Given the description of an element on the screen output the (x, y) to click on. 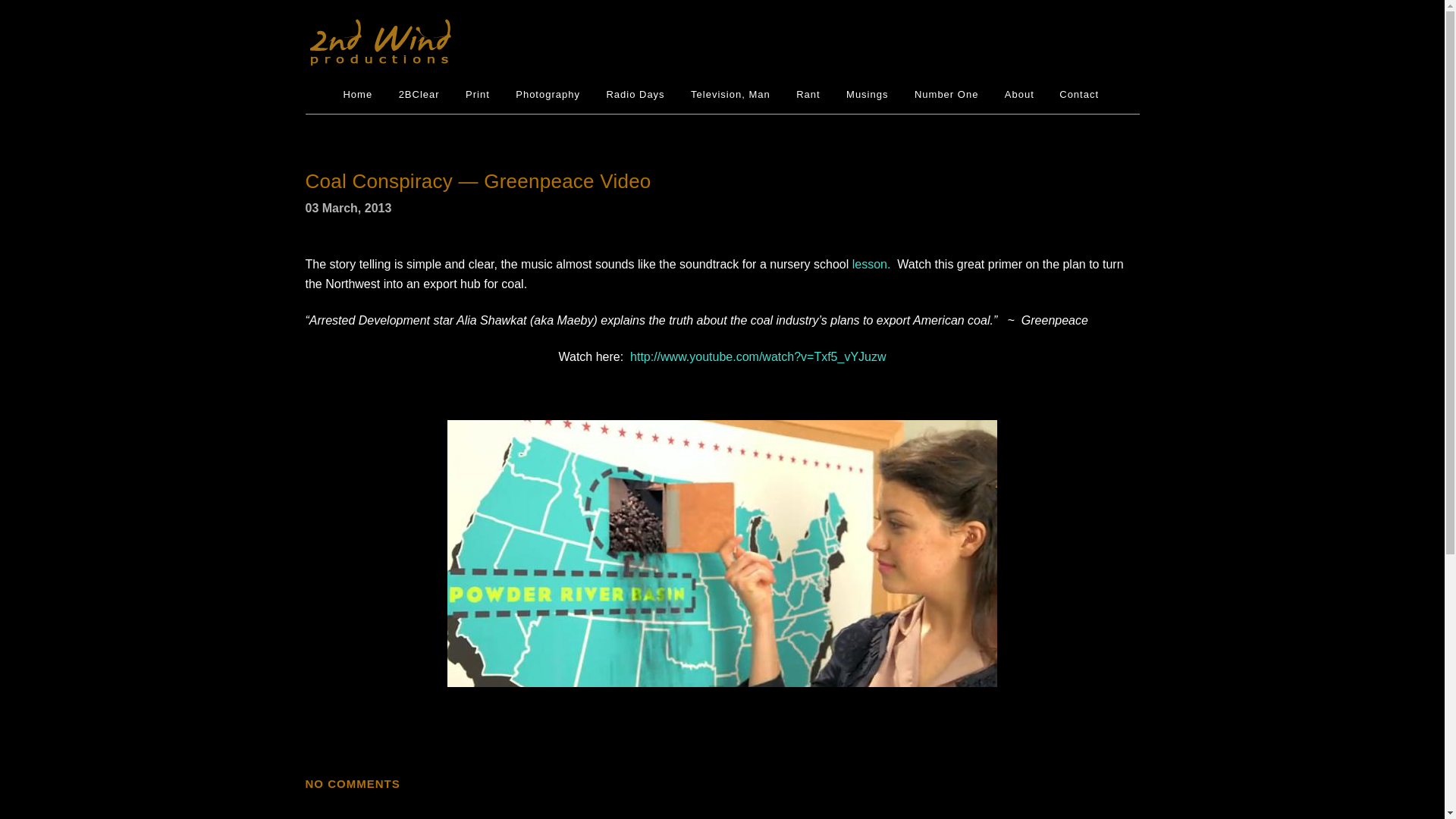
Print Element type: text (477, 94)
lesson.  Watch Element type: text (893, 263)
Television, Man Element type: text (730, 94)
Number One Element type: text (946, 94)
About Element type: text (1019, 94)
Photography Element type: text (547, 94)
2BClear Element type: text (419, 94)
Contact Element type: text (1078, 94)
Radio Days Element type: text (634, 94)
Home Element type: text (357, 94)
Rant Element type: text (807, 94)
Musings Element type: text (866, 94)
http://www.youtube.com/watch?v=Txf5_vYJuzw Element type: text (757, 356)
